Given the description of an element on the screen output the (x, y) to click on. 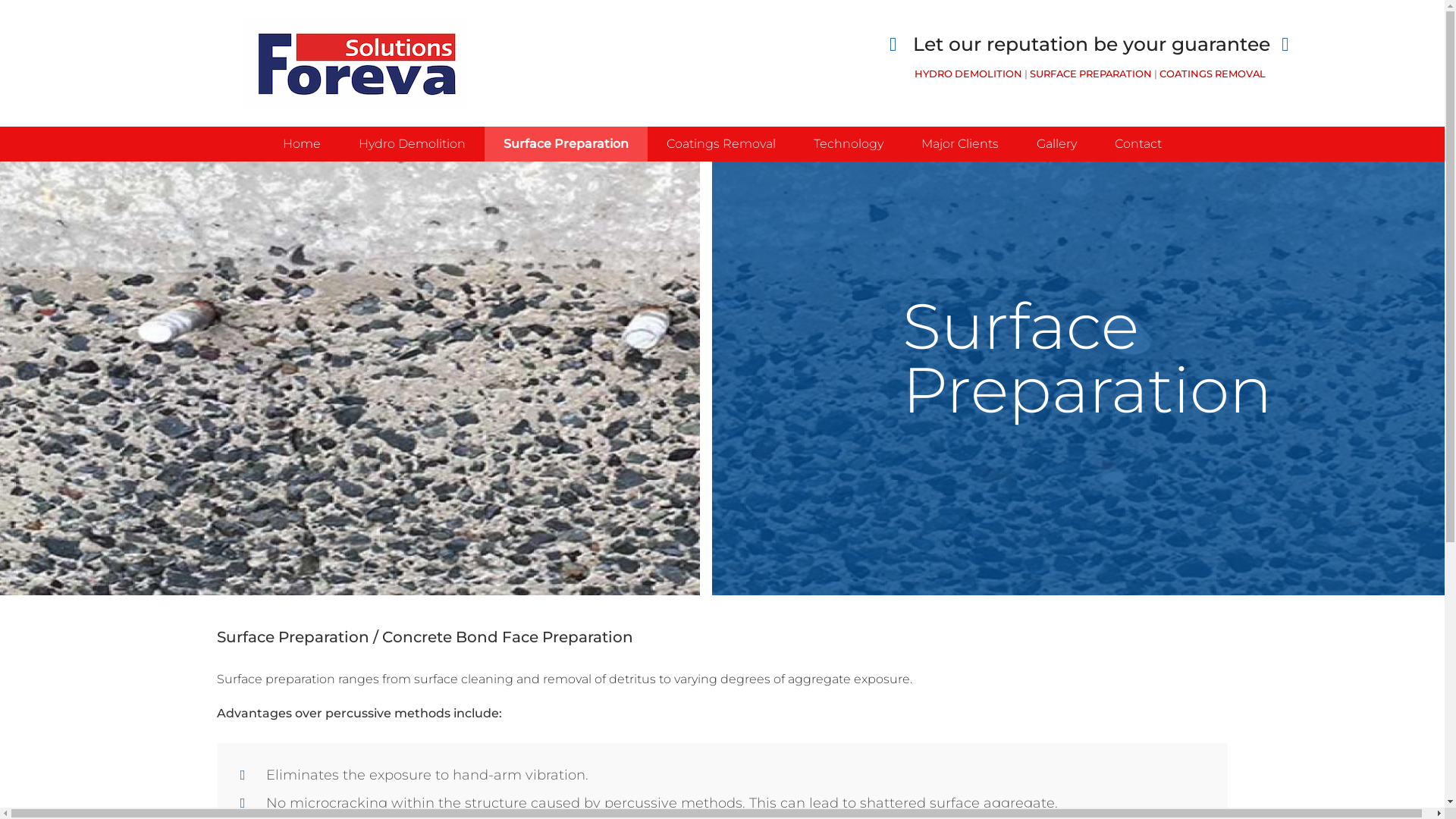
Coatings Removal Element type: text (720, 143)
Major Clients Element type: text (959, 143)
Skip to main content Element type: text (62, 0)
Hydro Demolition Element type: text (411, 143)
Surface Preparation Element type: text (565, 143)
COATINGS REMOVAL Element type: text (1212, 72)
HYDRO DEMOLITION | SURFACE PREPARATION | COATINGS REMOVAL Element type: hover (355, 62)
Surface Preparation / Concrete Bond Face Preparation Element type: hover (722, 486)
Technology Element type: text (848, 143)
HYDRO DEMOLITION Element type: text (968, 72)
Home Element type: text (301, 143)
SURFACE PREPARATION Element type: text (1090, 72)
Contact Element type: text (1137, 143)
Gallery Element type: text (1056, 143)
